Given the description of an element on the screen output the (x, y) to click on. 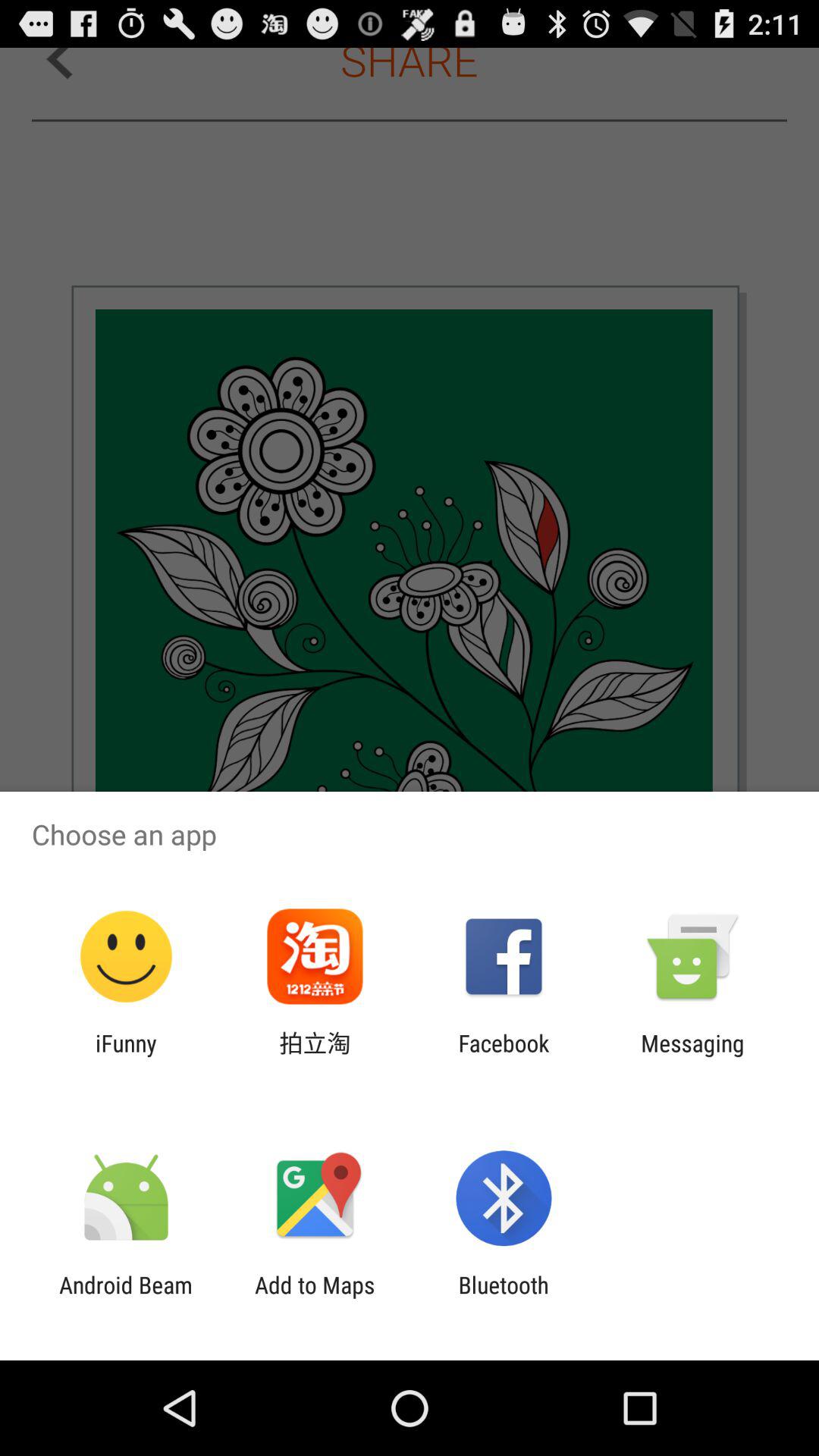
flip until the ifunny app (125, 1056)
